Given the description of an element on the screen output the (x, y) to click on. 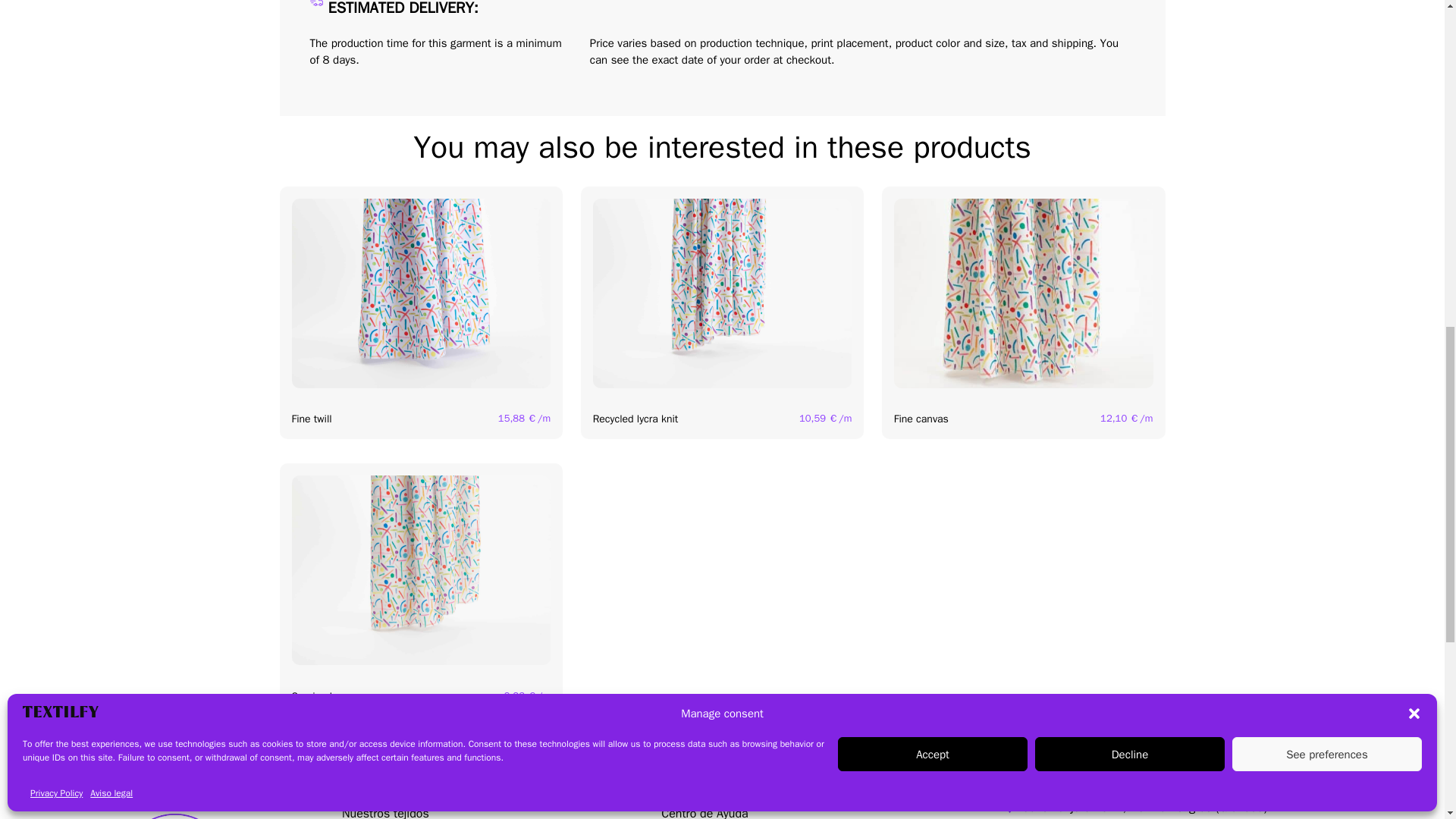
Shipping Single Product Image (314, 2)
